Given the description of an element on the screen output the (x, y) to click on. 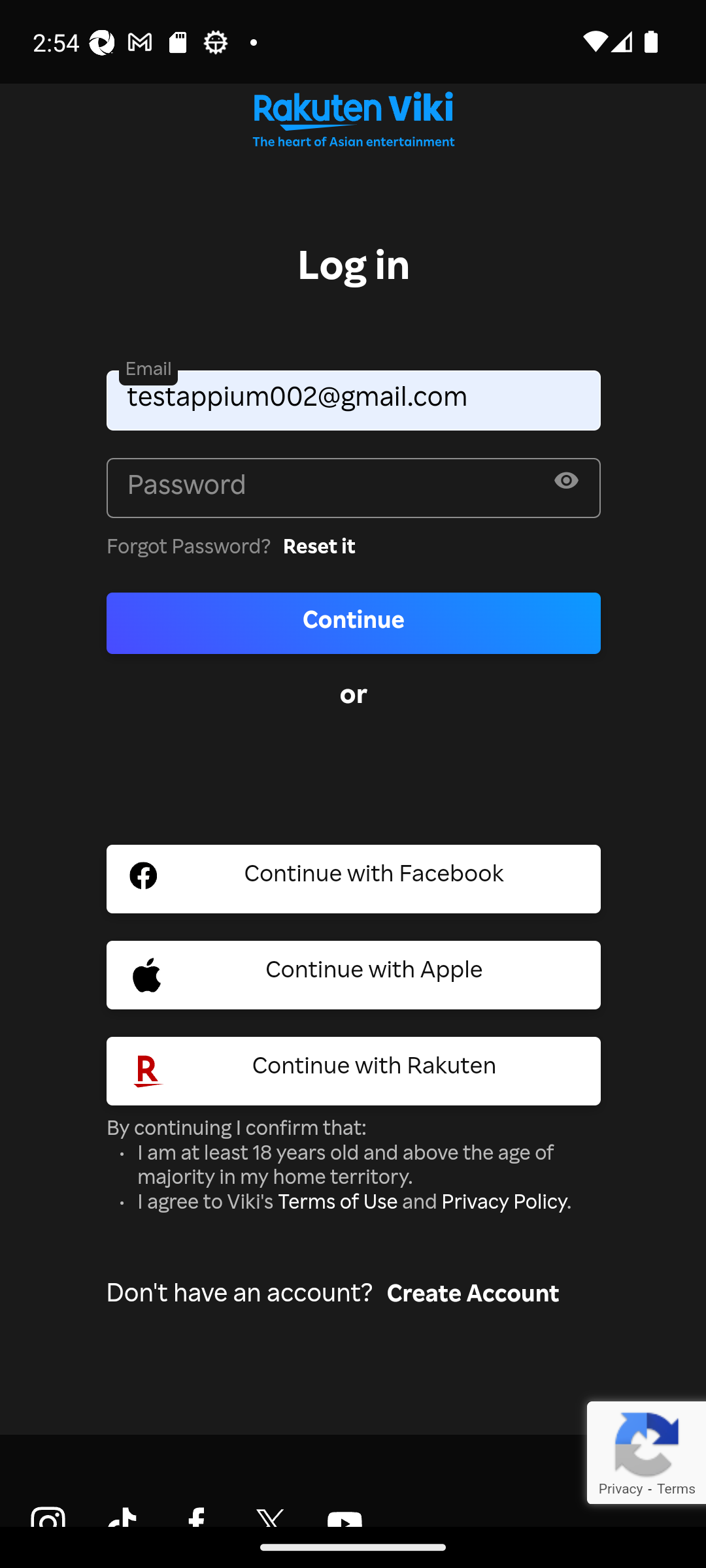
Go to homepage Rakuten Viki (352, 124)
testappium002@gmail.com (353, 400)
 (566, 484)
Reset it (318, 549)
Continue (353, 623)
Facebook Social Sign In Button (353, 877)
Apple Social Sign In Button (353, 974)
Rakuten Social Sign In Button (353, 1069)
Terms of Use (337, 1205)
Privacy Policy (503, 1205)
Create Account (472, 1295)
Privacy (620, 1488)
Terms (675, 1488)
